Given the description of an element on the screen output the (x, y) to click on. 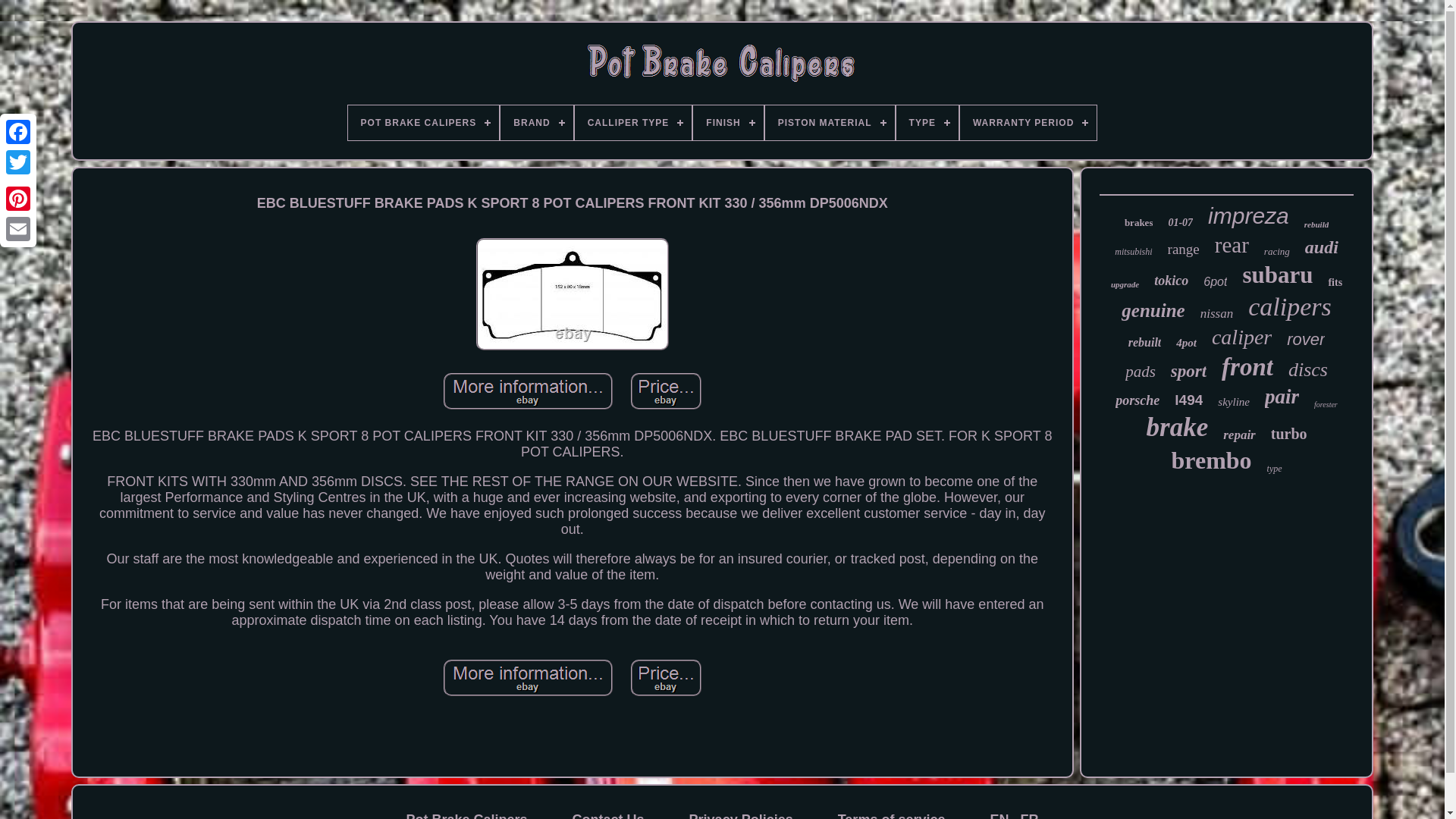
BRAND (536, 122)
CALLIPER TYPE (634, 122)
POT BRAKE CALIPERS (423, 122)
FINISH (727, 122)
